Given the description of an element on the screen output the (x, y) to click on. 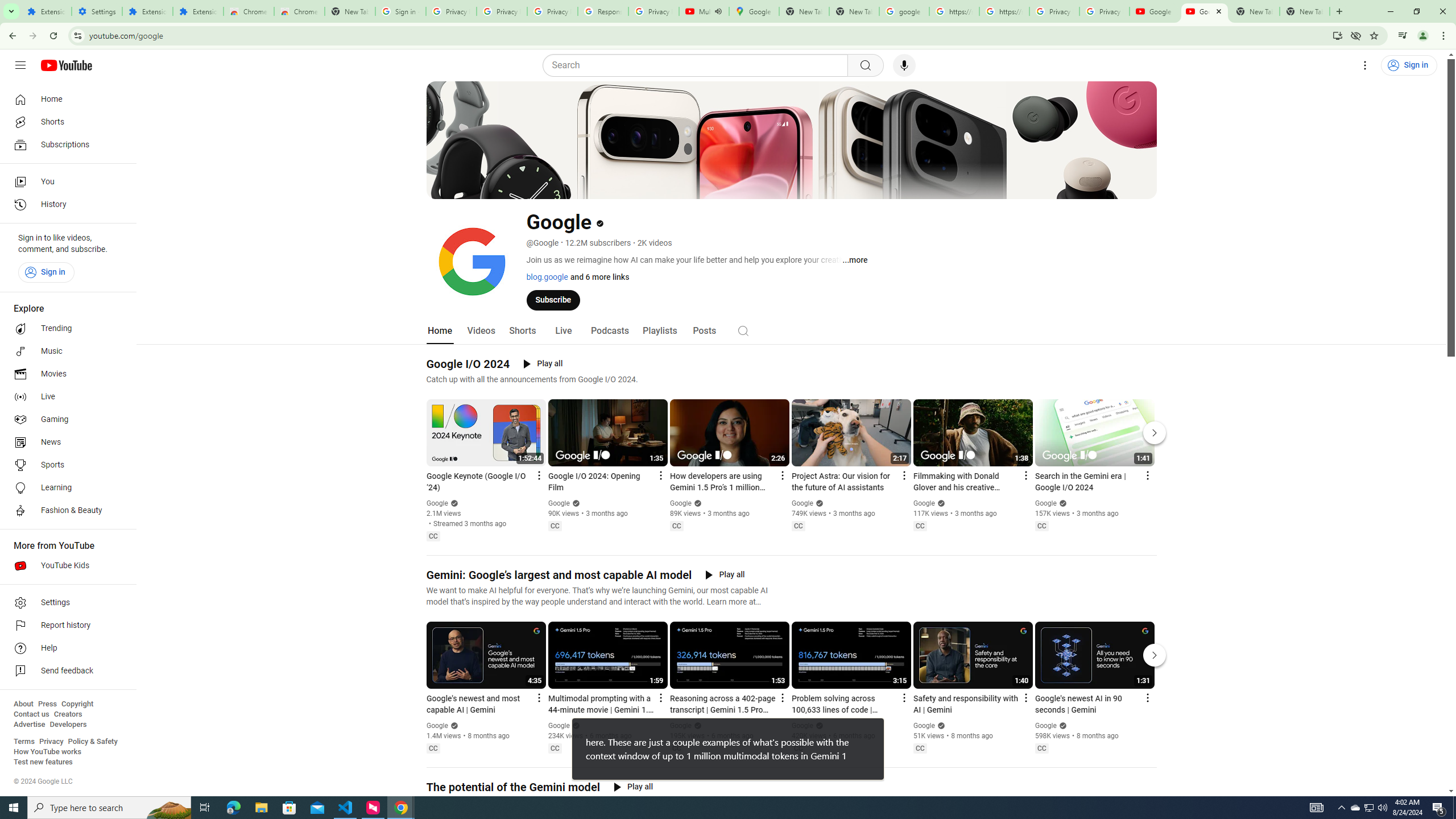
Privacy (51, 741)
Chrome Web Store - Themes (299, 11)
Play all (633, 787)
The potential of the Gemini model (512, 786)
Search (742, 330)
Google - YouTube (1204, 11)
Report history (64, 625)
Settings (97, 11)
Playlists (659, 330)
Address and search bar (707, 35)
